Given the description of an element on the screen output the (x, y) to click on. 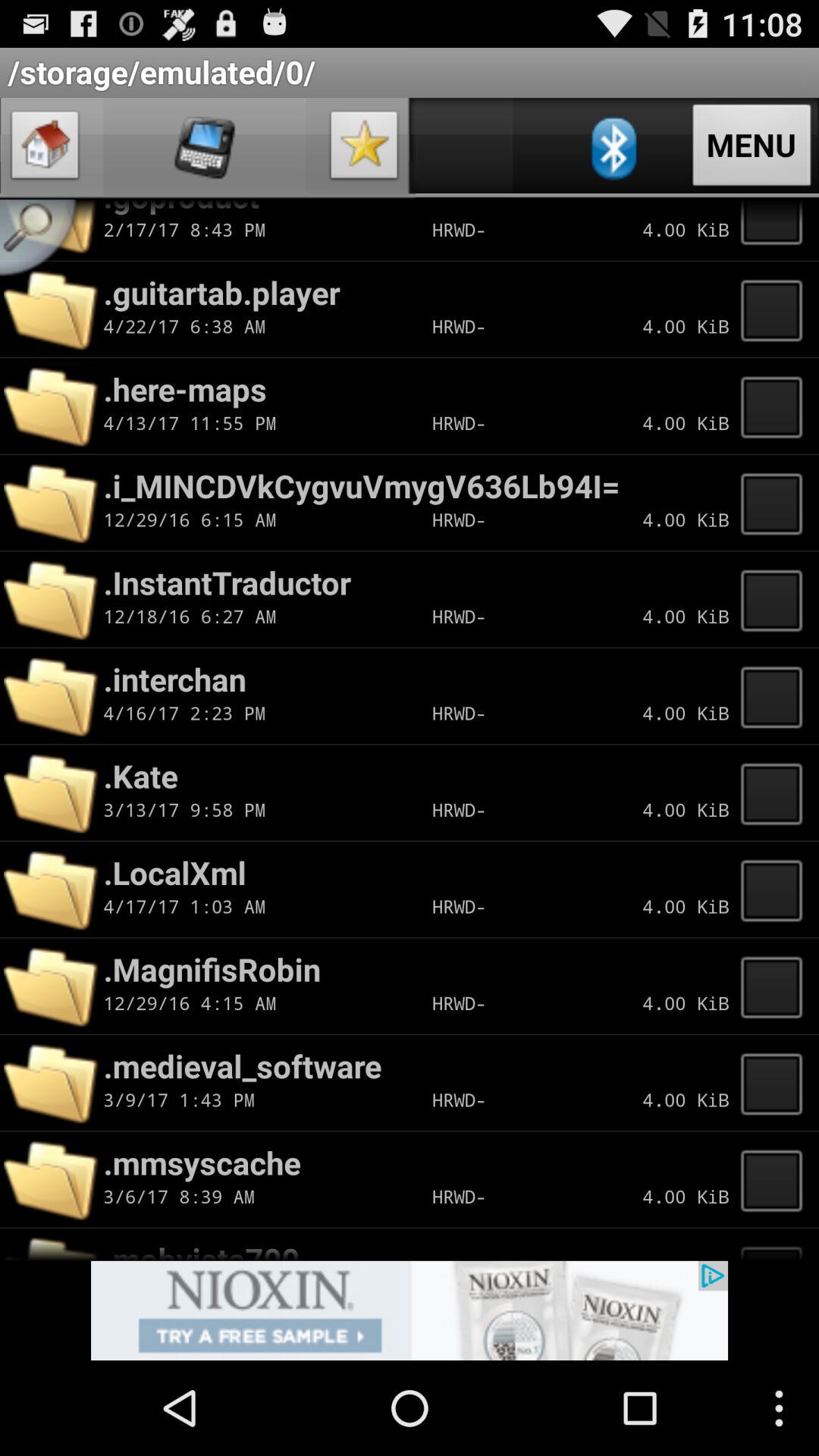
home option (44, 148)
